Given the description of an element on the screen output the (x, y) to click on. 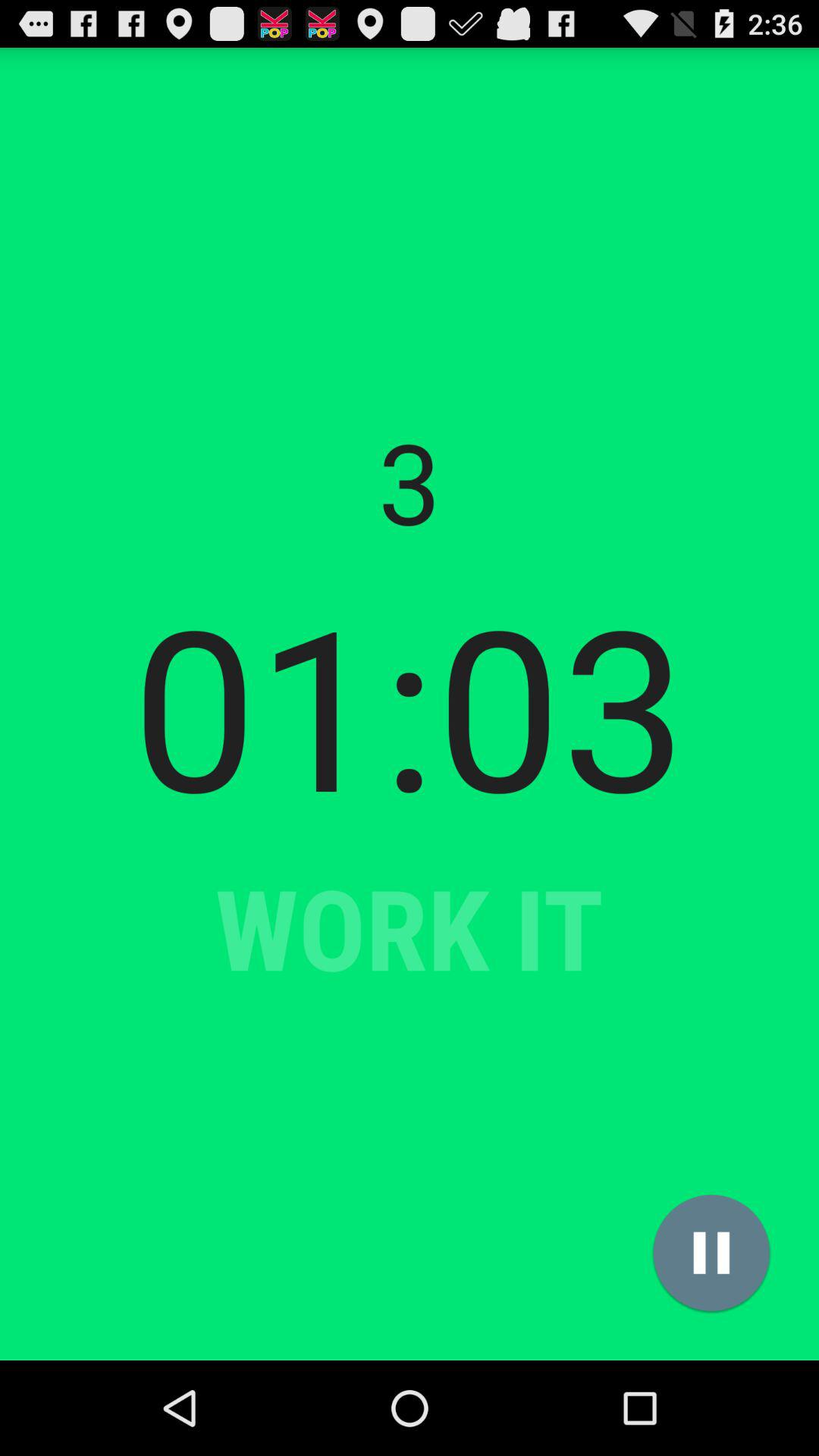
tap the app below the 01:03 item (711, 1252)
